Given the description of an element on the screen output the (x, y) to click on. 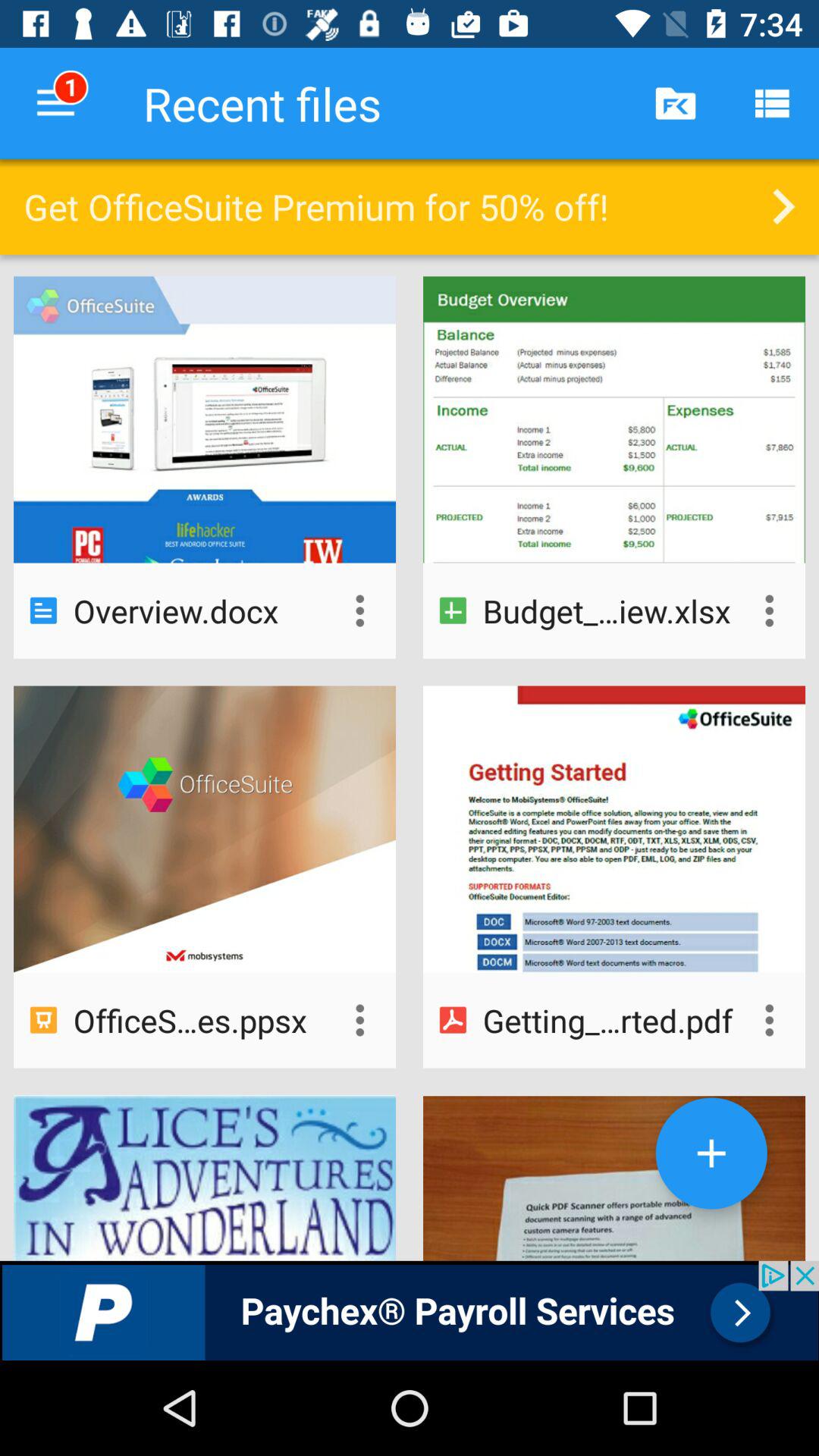
view options for this document (359, 1020)
